Given the description of an element on the screen output the (x, y) to click on. 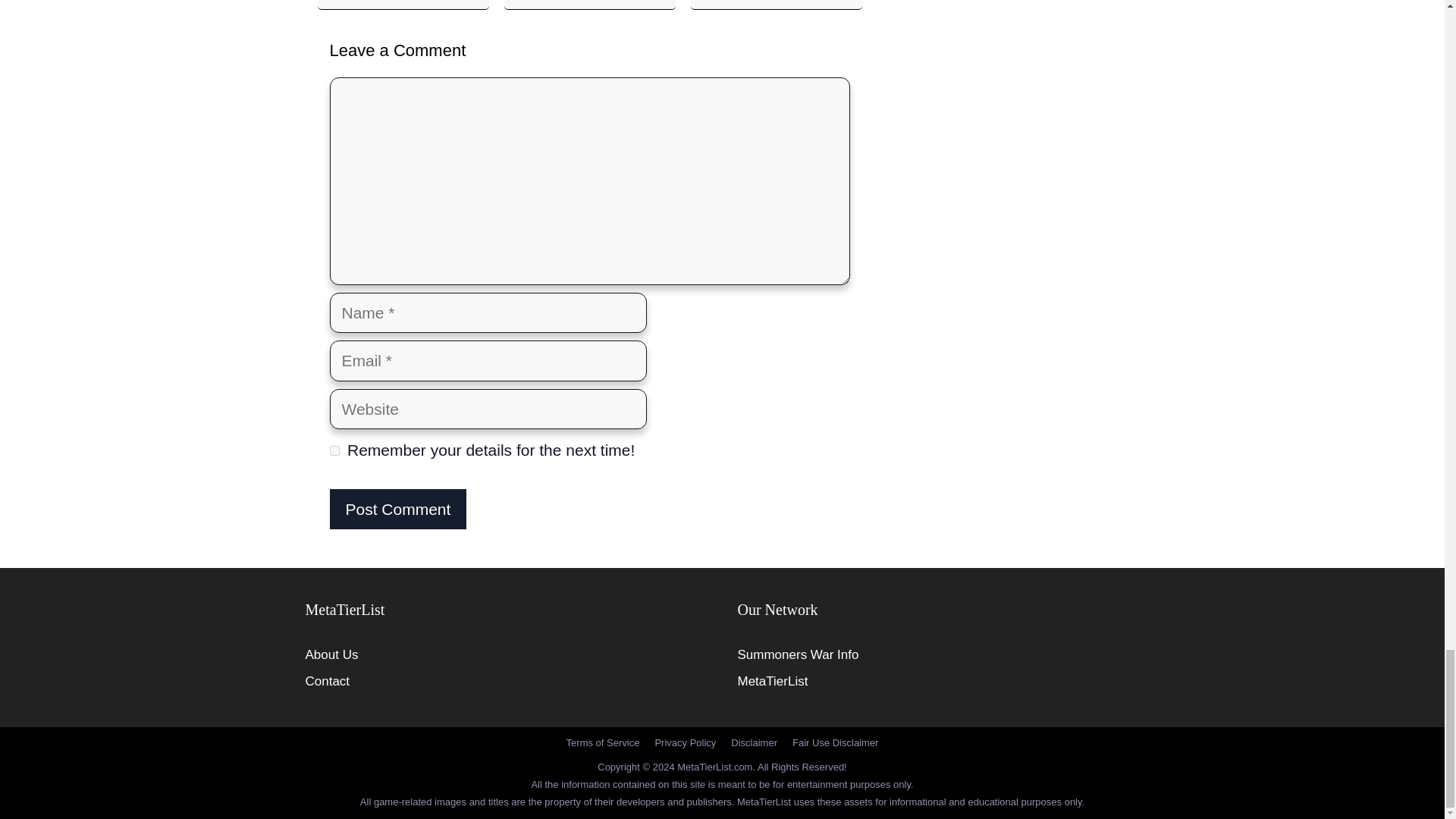
yes (334, 450)
Post Comment (397, 508)
